Given the description of an element on the screen output the (x, y) to click on. 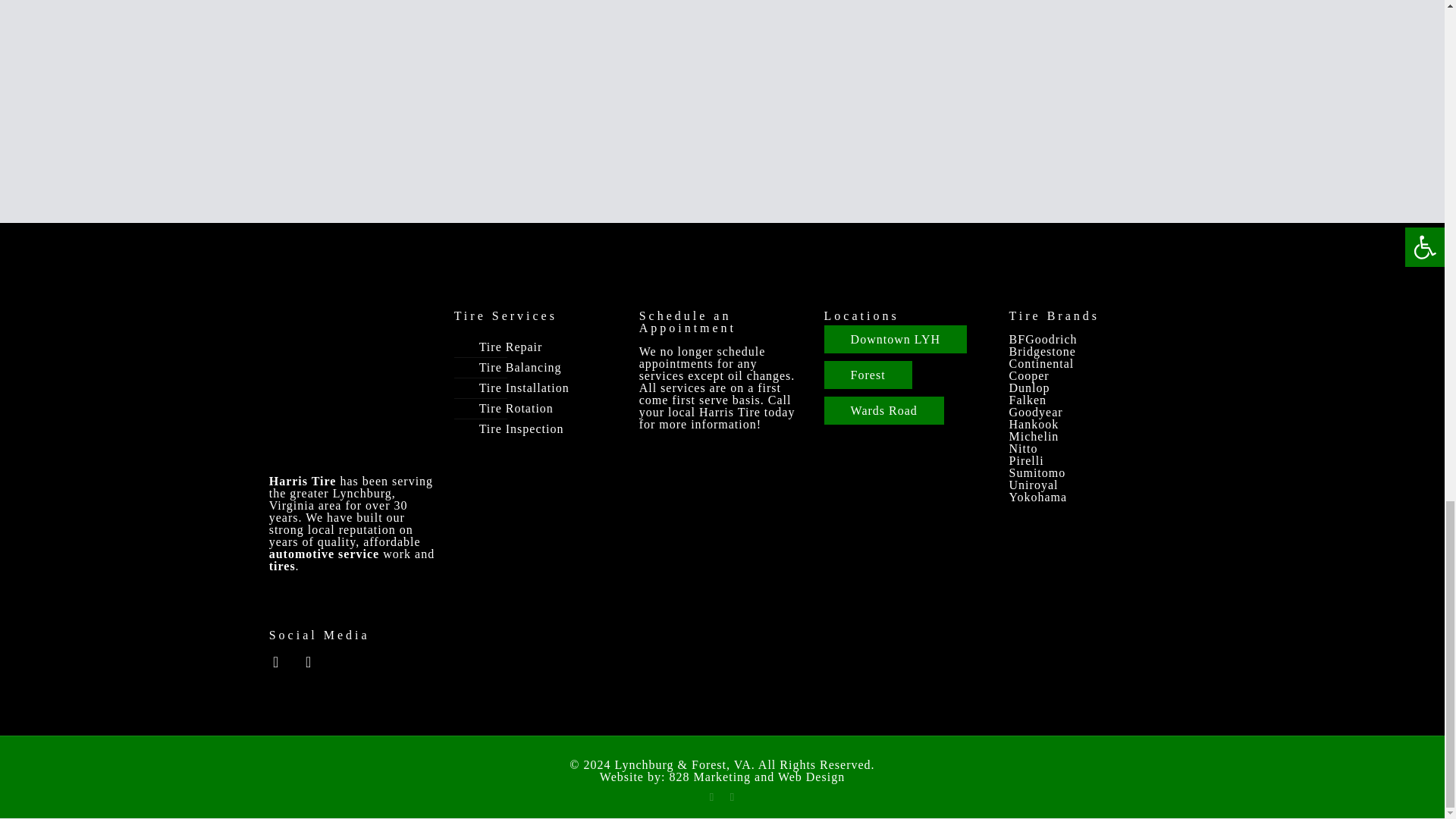
Facebook (711, 797)
Twitter (731, 797)
